Given the description of an element on the screen output the (x, y) to click on. 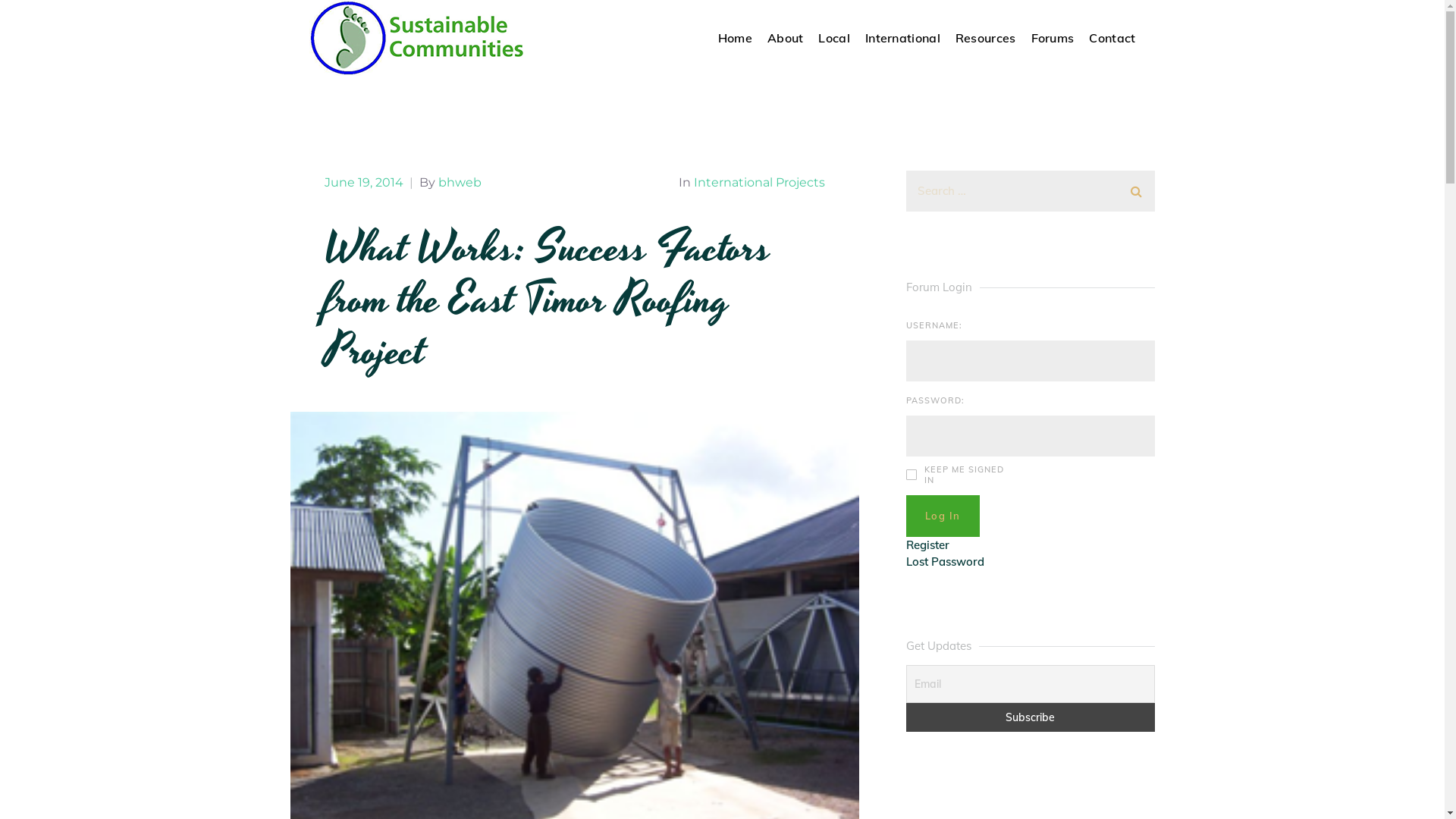
Contact Element type: text (1111, 37)
International Projects Element type: text (758, 182)
Register Element type: text (927, 544)
Resources Element type: text (985, 37)
June 19, 2014 Element type: text (365, 182)
Subscribe Element type: text (1030, 716)
Lost Password Element type: text (945, 561)
Home Element type: text (735, 37)
Log In Element type: text (942, 515)
Search Element type: text (1135, 188)
bhweb Element type: text (459, 182)
International Element type: text (902, 37)
Forums Element type: text (1052, 37)
About Element type: text (785, 37)
Local Element type: text (834, 37)
